Given the description of an element on the screen output the (x, y) to click on. 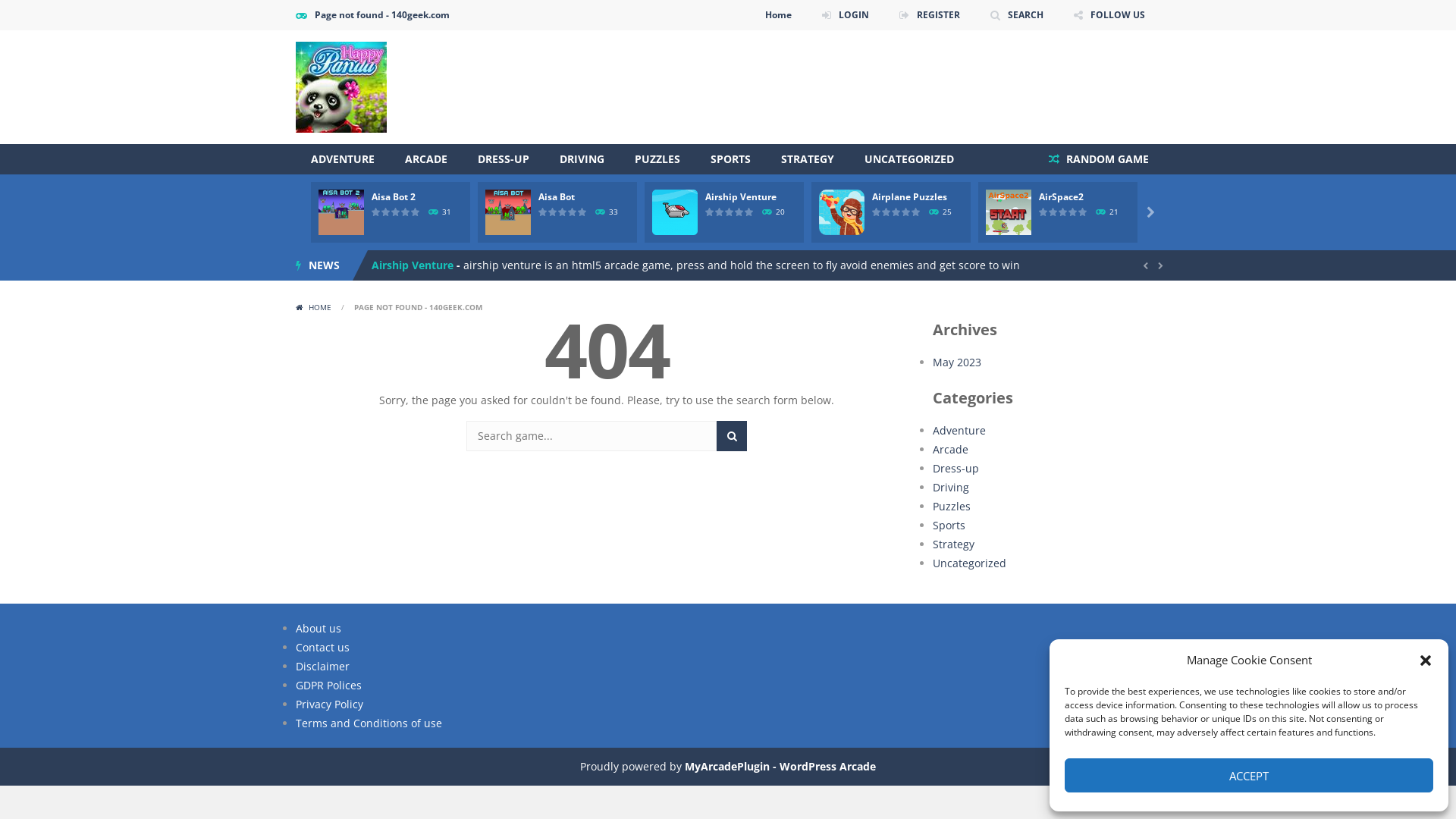
140geek.com Element type: hover (340, 86)
PUZZLES Element type: text (657, 159)
ARCADE Element type: text (425, 159)
SEARCH Element type: text (731, 435)
RANDOM GAME Element type: text (1098, 159)
0 votes, average: 0.00 out of 5 Element type: hover (553, 211)
Terms and Conditions of use Element type: text (368, 722)
0 votes, average: 0.00 out of 5 Element type: hover (562, 211)
0 votes, average: 0.00 out of 5 Element type: hover (376, 211)
0 votes, average: 0.00 out of 5 Element type: hover (1053, 211)
ADVENTURE Element type: text (342, 159)
ACCEPT Element type: text (1248, 775)
May 2023 Element type: text (956, 361)
0 votes, average: 0.00 out of 5 Element type: hover (739, 211)
140geek.com Element type: hover (340, 85)
Airplane Puzzles Element type: text (909, 196)
About us Element type: text (318, 628)
0 votes, average: 0.00 out of 5 Element type: hover (749, 211)
GDPR Polices Element type: text (328, 684)
0 votes, average: 0.00 out of 5 Element type: hover (406, 211)
0 votes, average: 0.00 out of 5 Element type: hover (886, 211)
LOGIN Element type: text (845, 15)
STRATEGY Element type: text (807, 159)
Dress-up Element type: text (955, 468)
FOLLOW US Element type: text (1109, 15)
Aisa Bot Element type: text (392, 264)
MyArcadePlugin - WordPress Arcade Element type: text (779, 766)
HOME Element type: text (314, 306)
0 votes, average: 0.00 out of 5 Element type: hover (1073, 211)
0 votes, average: 0.00 out of 5 Element type: hover (1043, 211)
SEARCH Element type: text (1016, 15)
0 votes, average: 0.00 out of 5 Element type: hover (396, 211)
0 votes, average: 0.00 out of 5 Element type: hover (876, 211)
Aisa Bot Element type: text (556, 196)
Contact us Element type: text (322, 647)
0 votes, average: 0.00 out of 5 Element type: hover (543, 211)
REGISTER Element type: text (929, 15)
0 votes, average: 0.00 out of 5 Element type: hover (710, 211)
UNCATEGORIZED Element type: text (909, 159)
DRIVING Element type: text (581, 159)
0 votes, average: 0.00 out of 5 Element type: hover (415, 211)
Home Element type: text (778, 15)
0 votes, average: 0.00 out of 5 Element type: hover (896, 211)
0 votes, average: 0.00 out of 5 Element type: hover (386, 211)
0 votes, average: 0.00 out of 5 Element type: hover (916, 211)
Adventure Element type: text (958, 430)
0 votes, average: 0.00 out of 5 Element type: hover (572, 211)
0 votes, average: 0.00 out of 5 Element type: hover (719, 211)
Uncategorized Element type: text (969, 562)
Privacy Policy Element type: text (329, 703)
Disclaimer Element type: text (322, 665)
Strategy Element type: text (953, 543)
AirSpace2 Element type: text (1060, 196)
0 votes, average: 0.00 out of 5 Element type: hover (1063, 211)
0 votes, average: 0.00 out of 5 Element type: hover (1083, 211)
0 votes, average: 0.00 out of 5 Element type: hover (906, 211)
Aisa Bot 2 Element type: text (393, 196)
0 votes, average: 0.00 out of 5 Element type: hover (582, 211)
Driving Element type: text (950, 487)
DRESS-UP Element type: text (503, 159)
Sports Element type: text (948, 524)
0 votes, average: 0.00 out of 5 Element type: hover (729, 211)
Arcade Element type: text (950, 449)
SPORTS Element type: text (730, 159)
Puzzles Element type: text (951, 505)
Airship Venture Element type: text (740, 196)
